Given the description of an element on the screen output the (x, y) to click on. 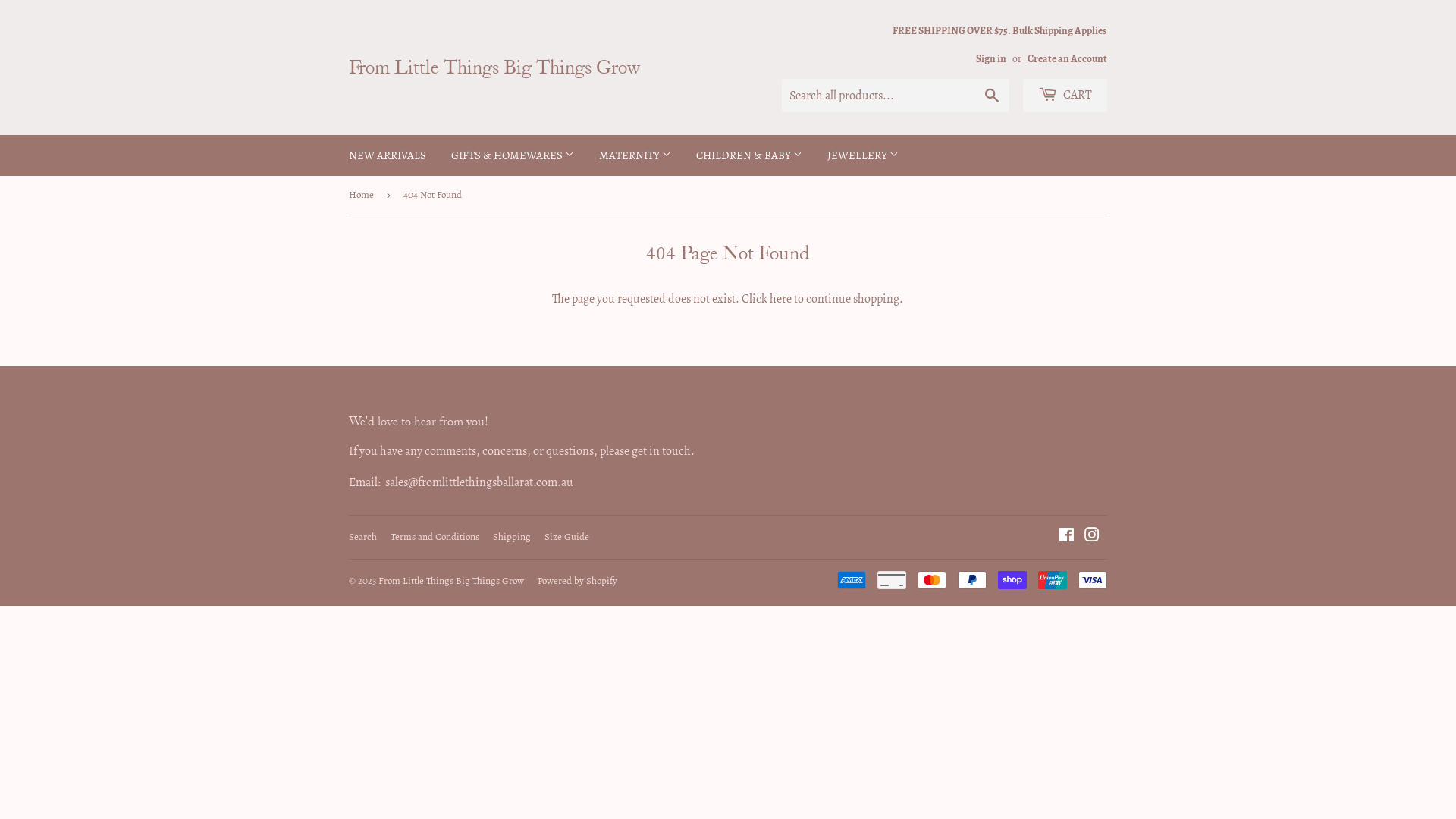
Powered by Shopify Element type: text (577, 580)
Shipping Element type: text (511, 536)
Search Element type: text (362, 536)
here Element type: text (780, 298)
MATERNITY Element type: text (634, 154)
NEW ARRIVALS Element type: text (387, 154)
JEWELLERY Element type: text (862, 154)
Home Element type: text (363, 194)
FREE SHIPPING OVER $75. Bulk Shipping Applies Element type: text (999, 43)
From Little Things Big Things Grow Element type: text (538, 66)
GIFTS & HOMEWARES Element type: text (512, 154)
Search Element type: text (992, 96)
Terms and Conditions Element type: text (434, 536)
Size Guide Element type: text (566, 536)
CART Element type: text (1064, 95)
Create an Account Element type: text (1067, 58)
Sign in Element type: text (990, 58)
Facebook Element type: text (1066, 536)
Instagram Element type: text (1091, 536)
From Little Things Big Things Grow Element type: text (451, 580)
CHILDREN & BABY Element type: text (748, 154)
